Given the description of an element on the screen output the (x, y) to click on. 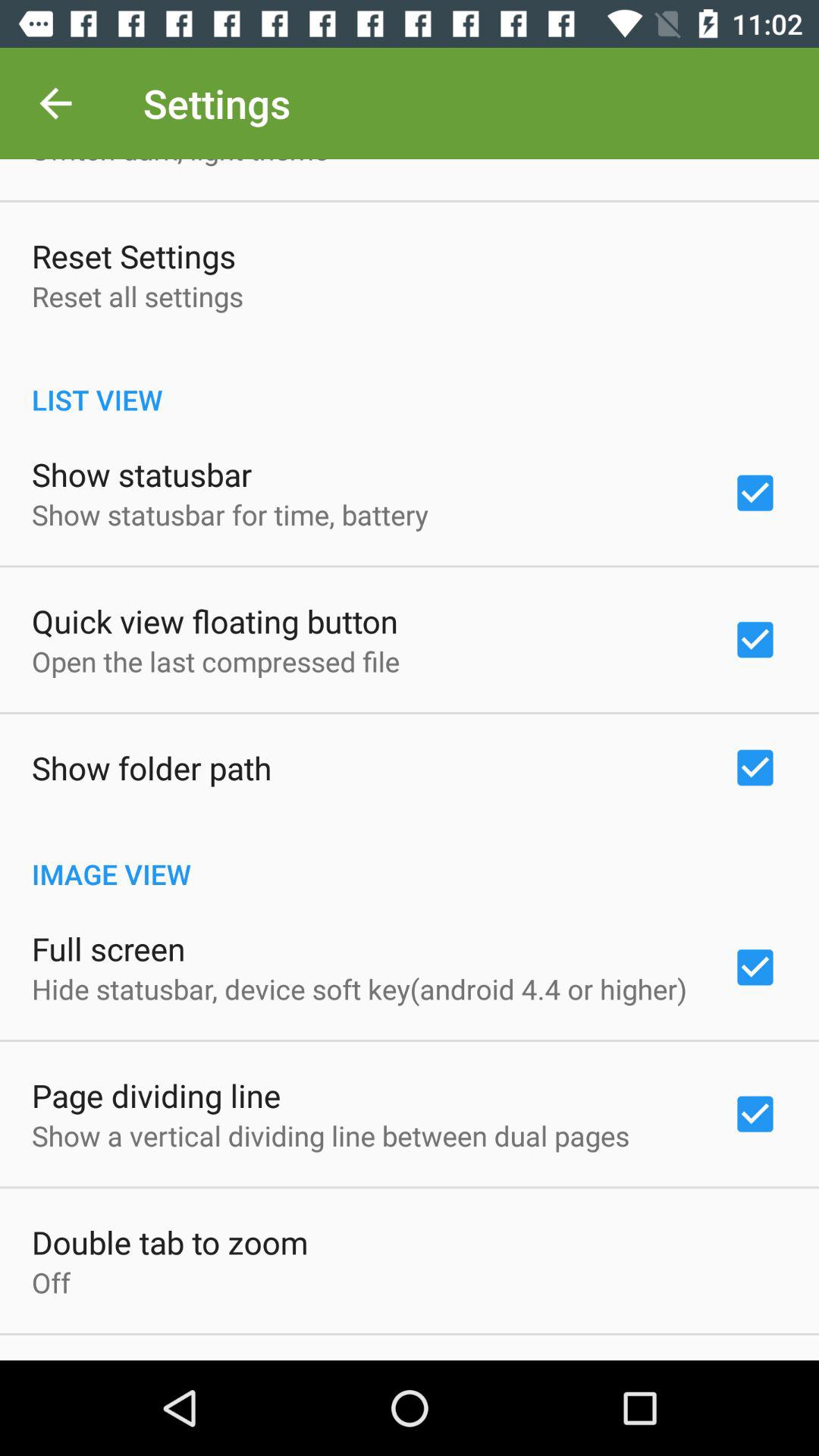
turn off open the last (215, 661)
